Given the description of an element on the screen output the (x, y) to click on. 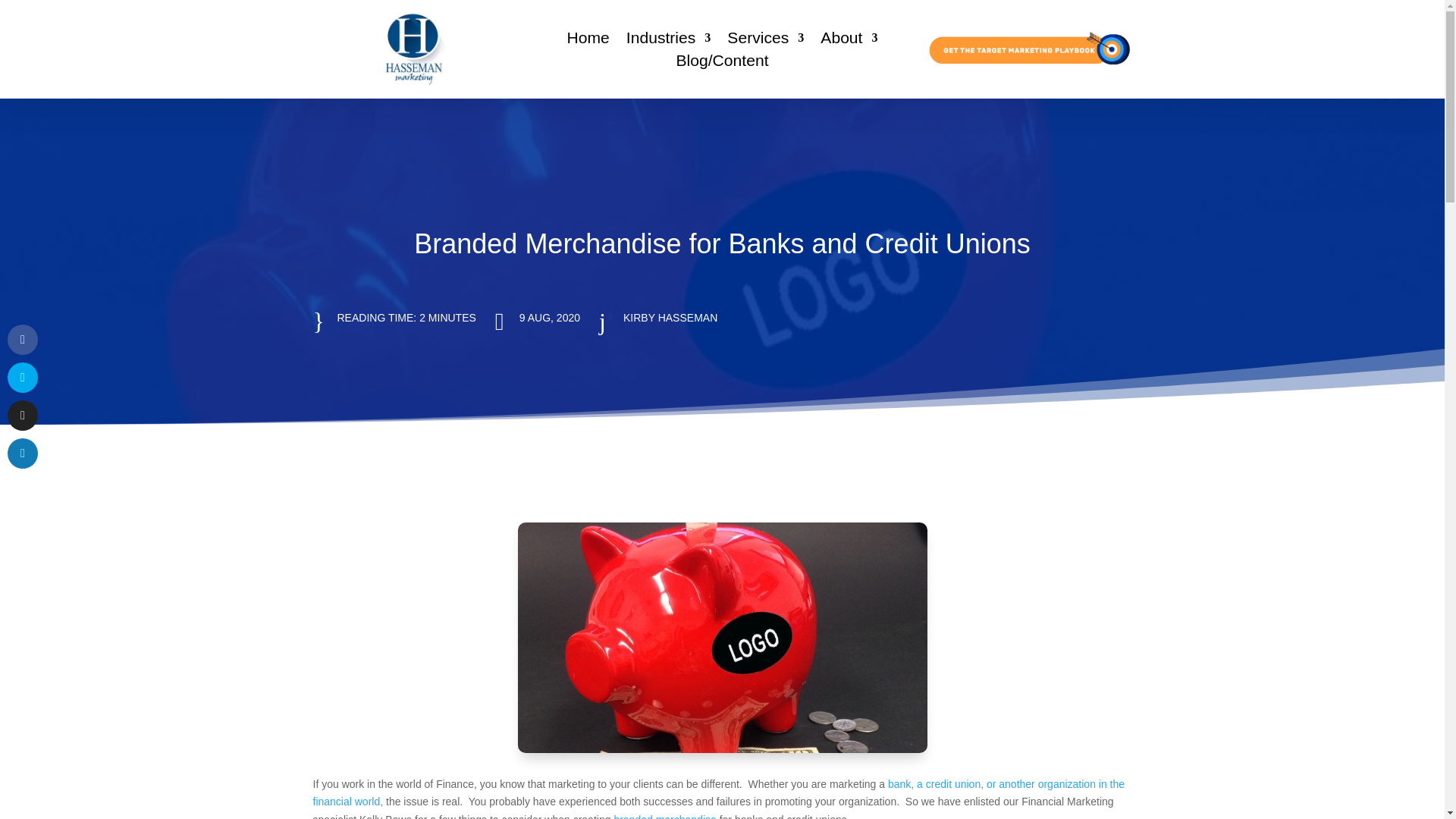
branded merchandise for banks (721, 637)
Services (764, 40)
Home (588, 40)
About (849, 40)
Industries (668, 40)
